Given the description of an element on the screen output the (x, y) to click on. 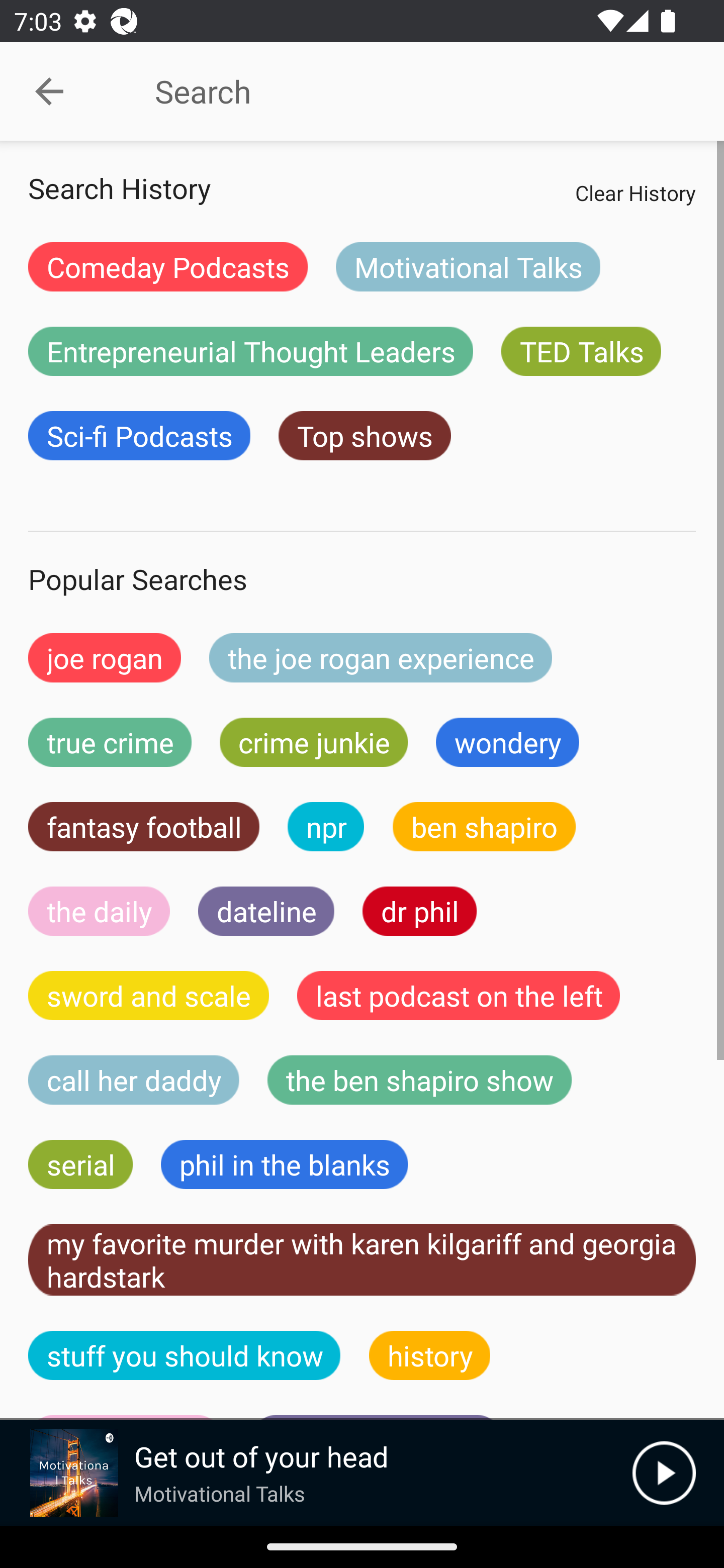
Collapse (49, 91)
Search (407, 91)
Clear History (634, 192)
Comeday Podcasts (167, 266)
Motivational Talks (467, 266)
Entrepreneurial Thought Leaders (250, 351)
TED Talks (581, 351)
Sci-fi Podcasts (139, 435)
Top shows (364, 435)
joe rogan (104, 657)
the joe rogan experience (380, 657)
true crime (109, 742)
crime junkie (313, 742)
wondery (507, 742)
fantasy football (143, 826)
npr (325, 826)
ben shapiro (483, 826)
the daily (99, 910)
dateline (266, 910)
dr phil (419, 910)
sword and scale (148, 995)
last podcast on the left (458, 995)
call her daddy (133, 1079)
the ben shapiro show (419, 1079)
serial (80, 1163)
phil in the blanks (283, 1163)
stuff you should know (184, 1355)
history (429, 1355)
Picture Get out of your head Motivational Talks (316, 1472)
Play (663, 1472)
